Given the description of an element on the screen output the (x, y) to click on. 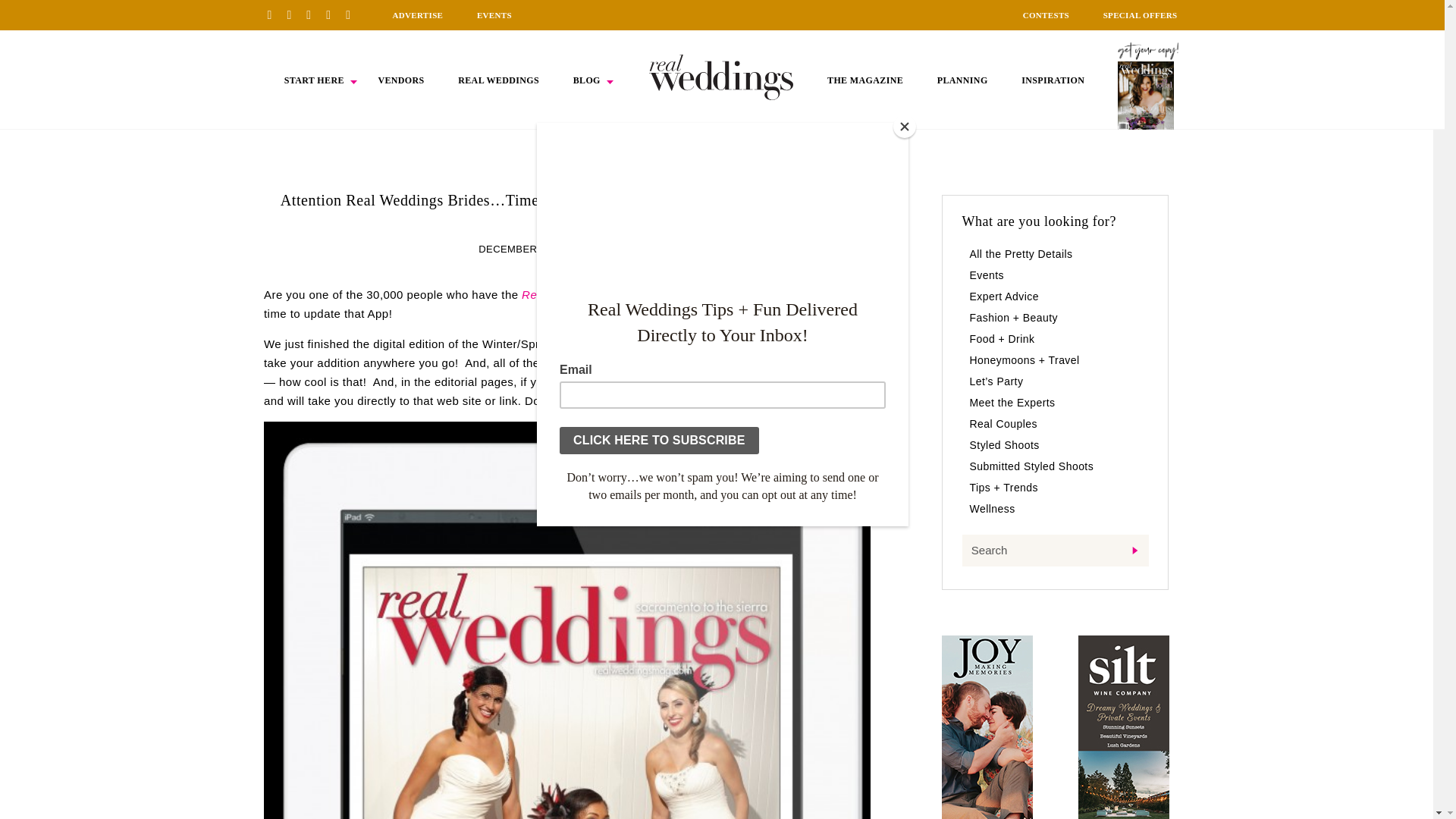
Search (1054, 550)
LET'S PARTY (623, 248)
START HERE (313, 80)
ADVERTISE (416, 14)
Real Weddings (561, 294)
Real Weddings (675, 343)
PLANNING (962, 80)
Instagram (313, 14)
THE MAGAZINE (864, 80)
EVENTS (494, 14)
Pinterest (274, 14)
YouTube (353, 14)
VENDORS (400, 80)
BLOG (586, 80)
